Given the description of an element on the screen output the (x, y) to click on. 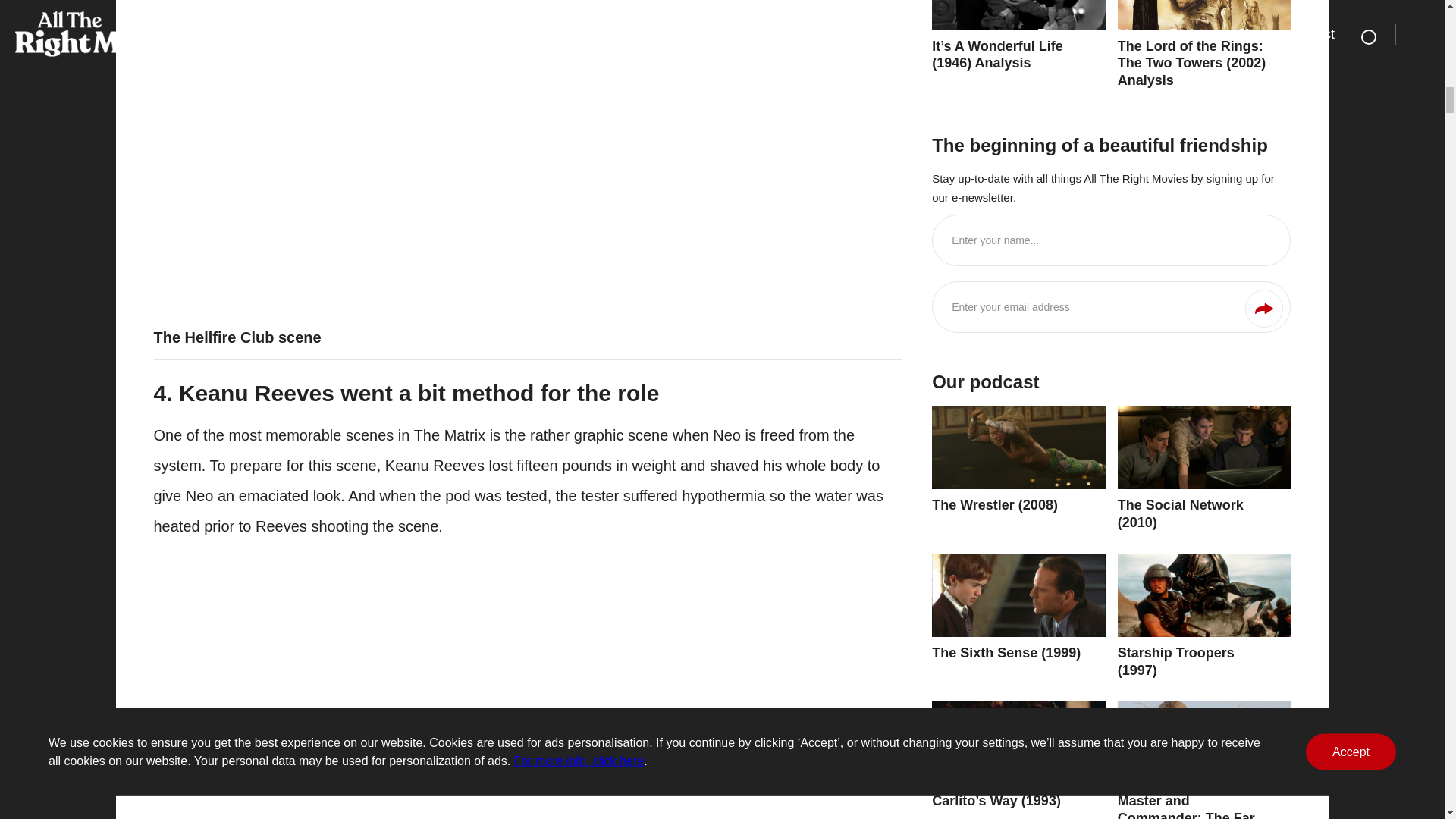
Sign up (1263, 308)
The Matrix Club Scene (395, 80)
Sign up (1263, 308)
